Given the description of an element on the screen output the (x, y) to click on. 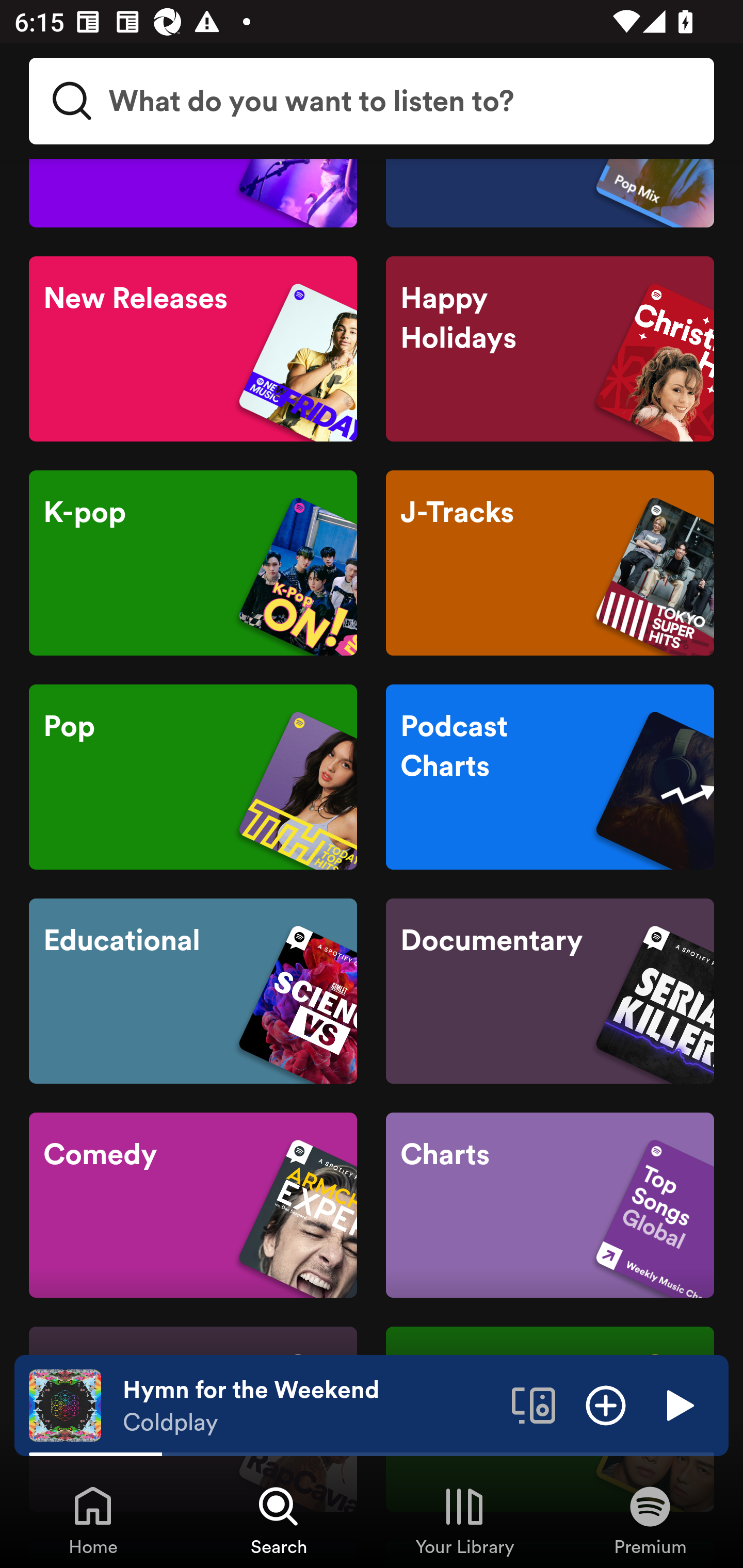
New Releases (192, 348)
Happy Holidays (549, 348)
K-pop (192, 562)
J-Tracks (549, 562)
Pop (192, 777)
Podcast Charts (549, 777)
Educational (192, 990)
Documentary (549, 990)
Comedy (192, 1205)
Charts (549, 1205)
Hymn for the Weekend Coldplay (309, 1405)
The cover art of the currently playing track (64, 1404)
Connect to a device. Opens the devices menu (533, 1404)
Add item (605, 1404)
Play (677, 1404)
Home, Tab 1 of 4 Home Home (92, 1519)
Search, Tab 2 of 4 Search Search (278, 1519)
Your Library, Tab 3 of 4 Your Library Your Library (464, 1519)
Premium, Tab 4 of 4 Premium Premium (650, 1519)
